Given the description of an element on the screen output the (x, y) to click on. 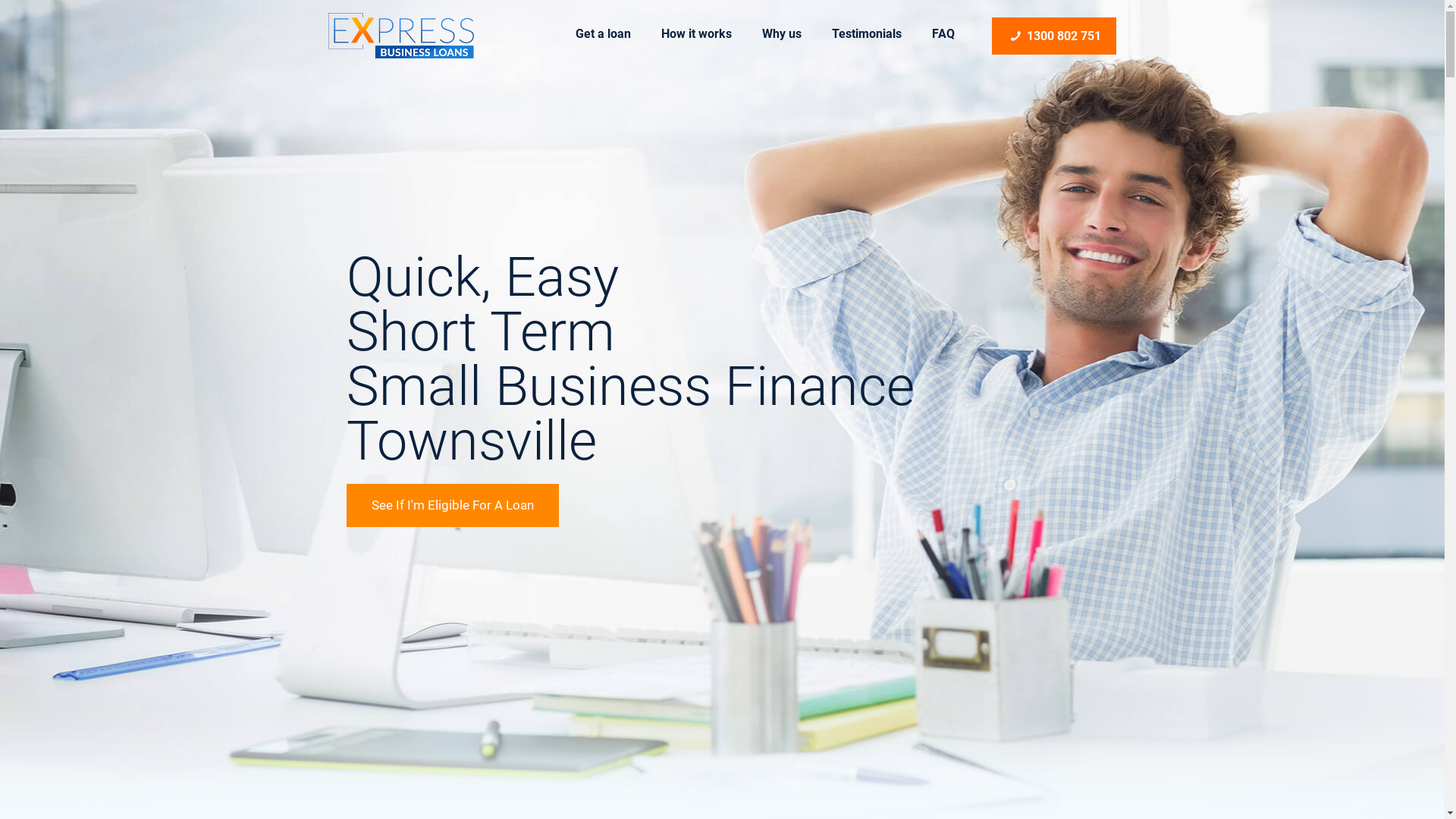
FAQ Element type: text (942, 34)
See If I'm Eligible For A Loan Element type: text (452, 505)
1300 802 751 Element type: text (1053, 35)
Why us Element type: text (781, 34)
How it works Element type: text (696, 34)
Testimonials Element type: text (866, 34)
Express Business Loans Element type: hover (400, 34)
Get a loan Element type: text (603, 34)
